Given the description of an element on the screen output the (x, y) to click on. 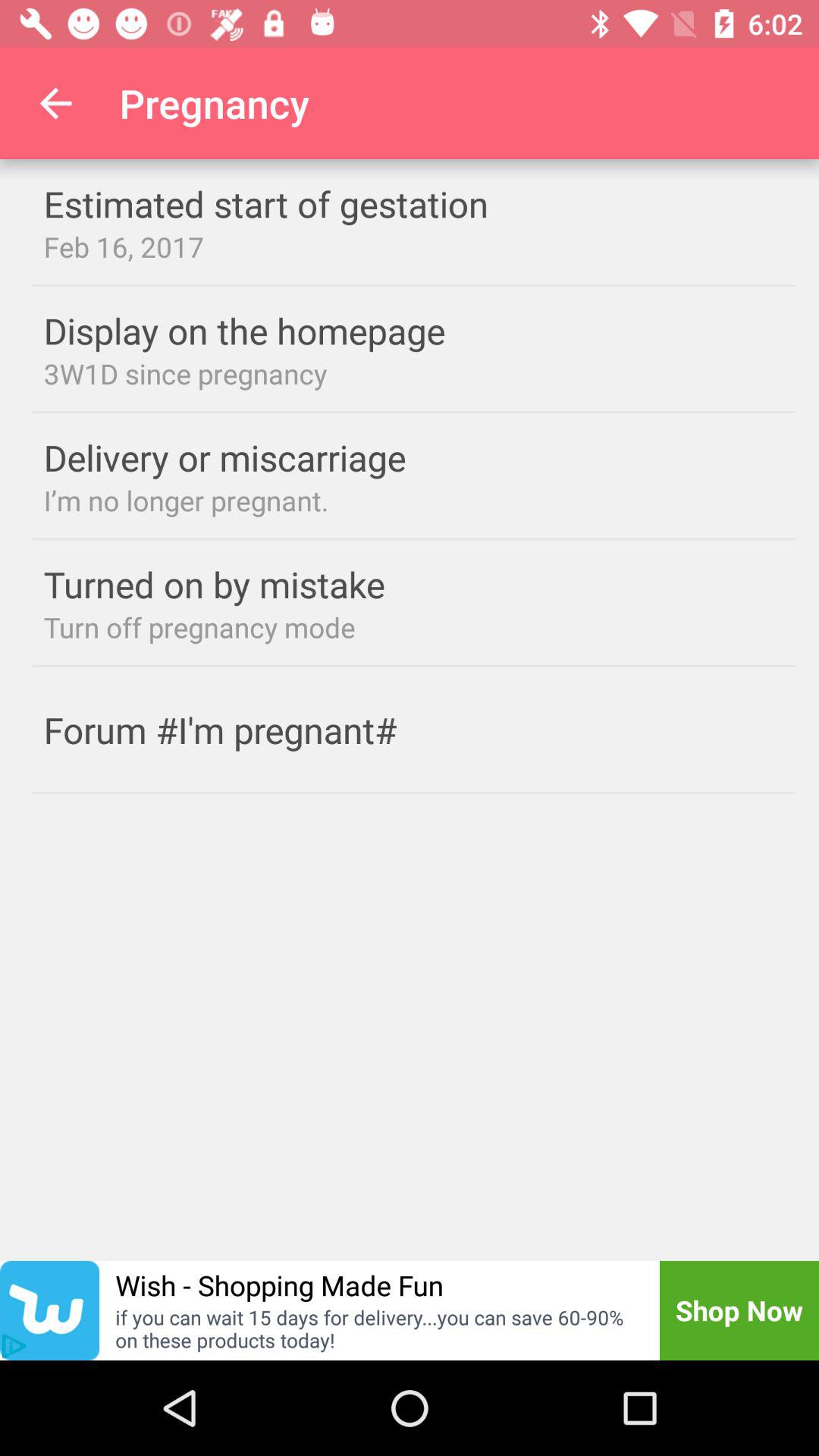
tap estimated start of (295, 203)
